Given the description of an element on the screen output the (x, y) to click on. 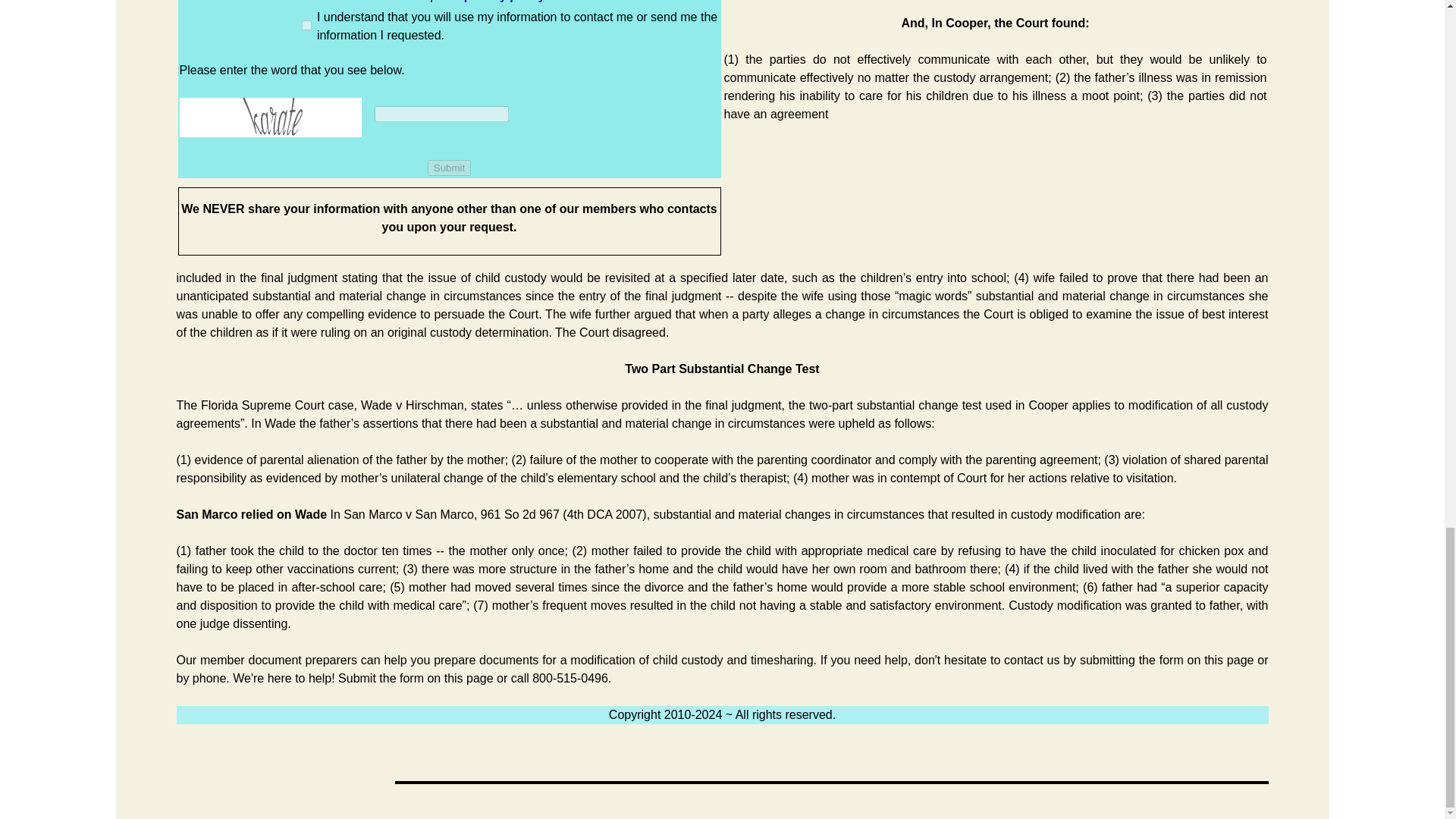
Submit (449, 167)
